Given the description of an element on the screen output the (x, y) to click on. 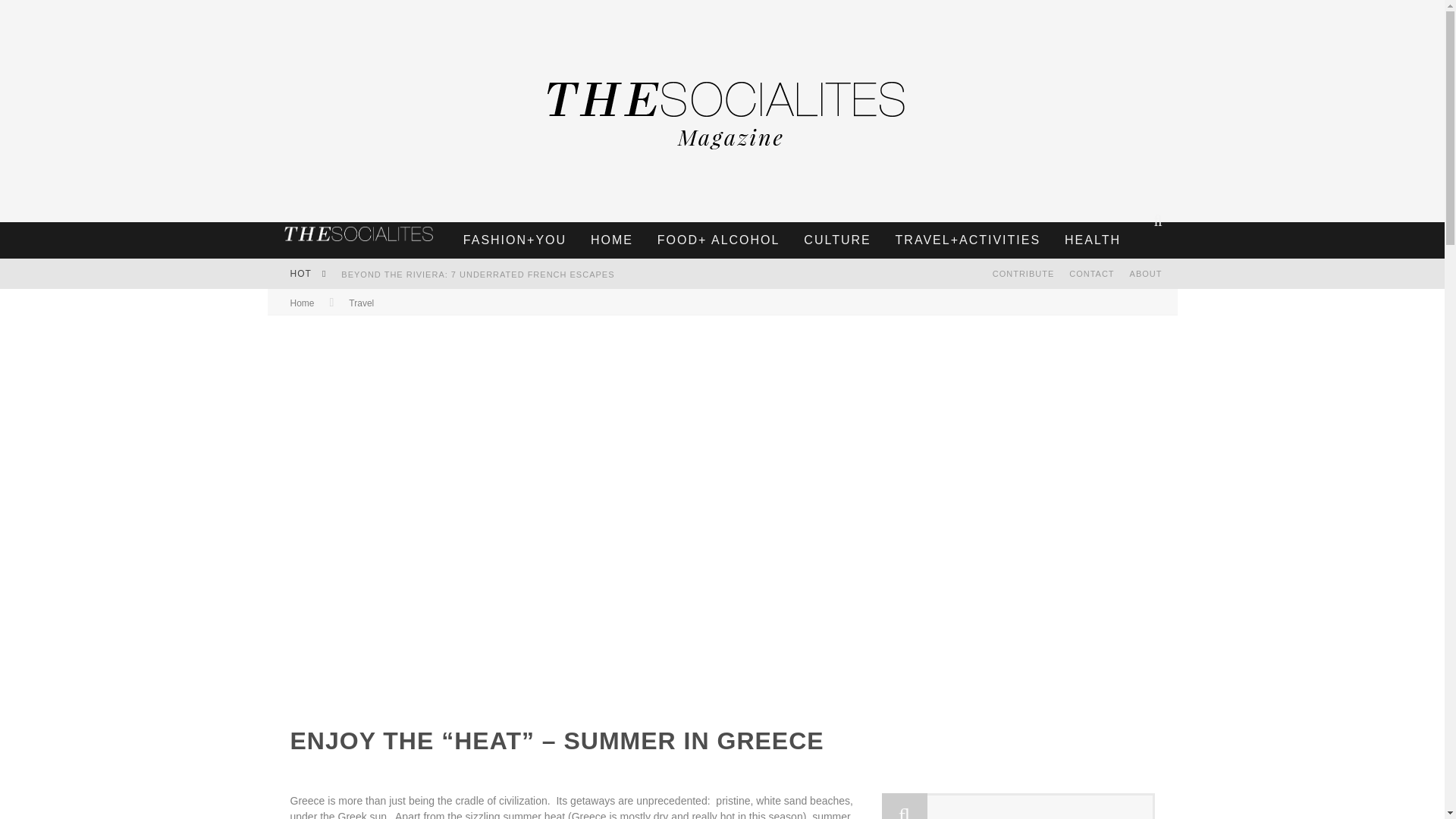
HOME (612, 239)
CULTURE (837, 239)
CONTRIBUTE (1023, 273)
HEALTH (1092, 239)
CONTACT (1091, 273)
BEYOND THE RIVIERA: 7 UNDERRATED FRENCH ESCAPES (477, 274)
Beyond the Riviera: 7 Underrated French Escapes (477, 274)
ABOUT (1146, 273)
Log In (721, 473)
